Given the description of an element on the screen output the (x, y) to click on. 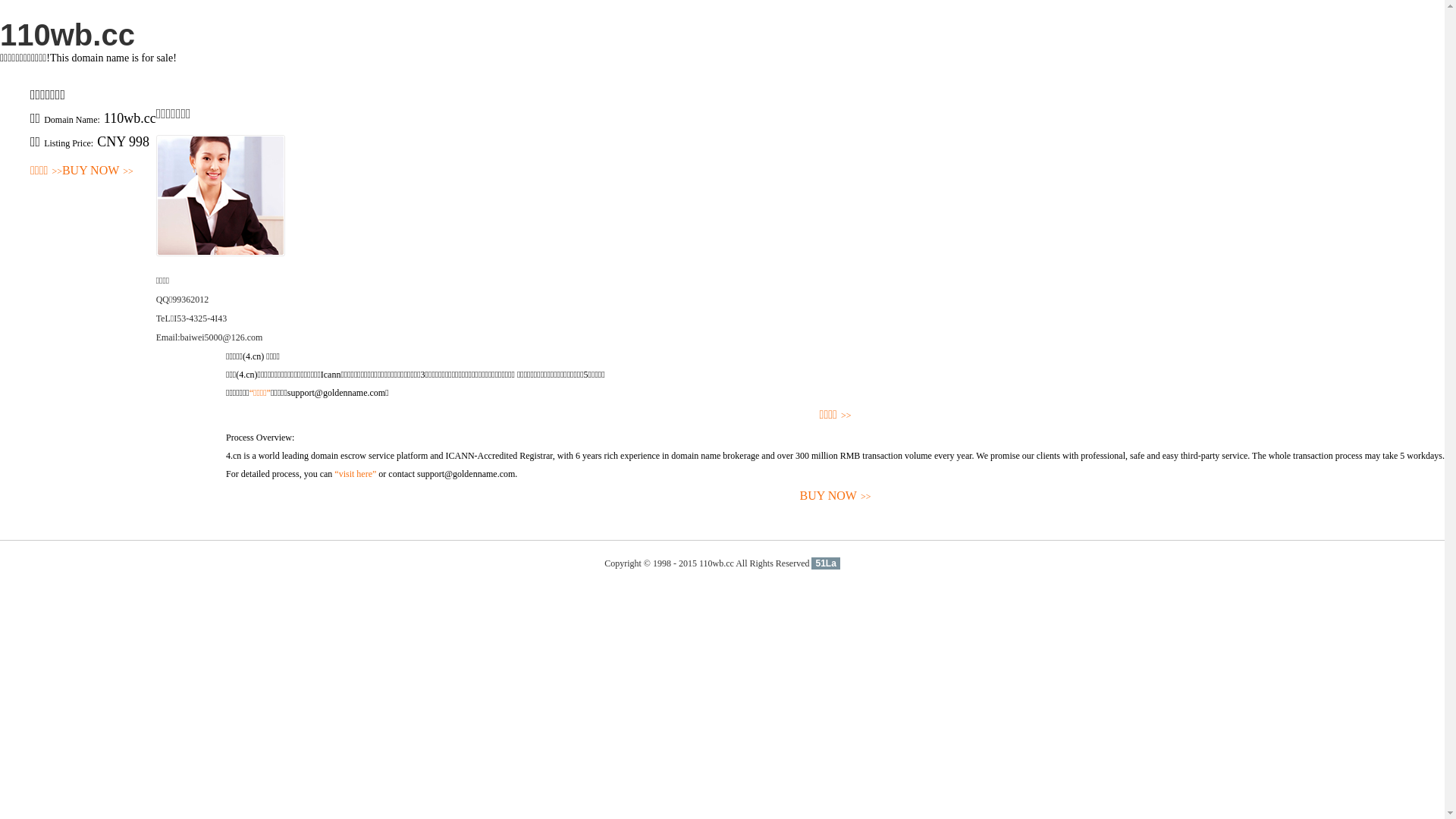
BUY NOW>> Element type: text (97, 170)
BUY NOW>> Element type: text (834, 496)
51La Element type: text (825, 563)
